Given the description of an element on the screen output the (x, y) to click on. 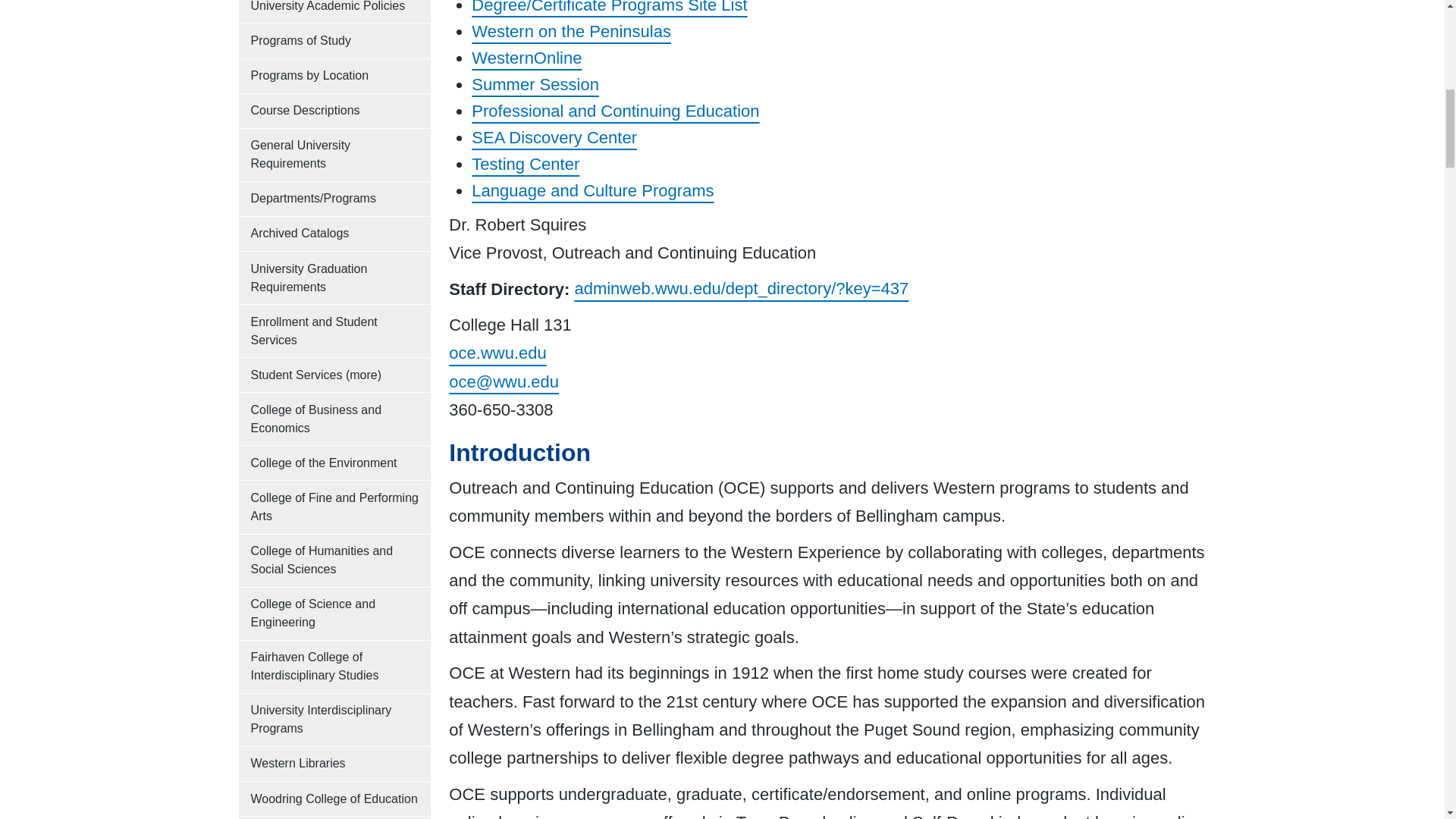
General University Requirements (334, 154)
University Interdisciplinary Programs (334, 719)
Programs by Location (334, 75)
University Graduation Requirements (334, 277)
College of Business and Economics (334, 419)
College of Science and Engineering (334, 613)
University Academic Policies (334, 11)
Woodring College of Education (334, 798)
Archived Catalogs (334, 233)
College of the Environment (334, 462)
